Given the description of an element on the screen output the (x, y) to click on. 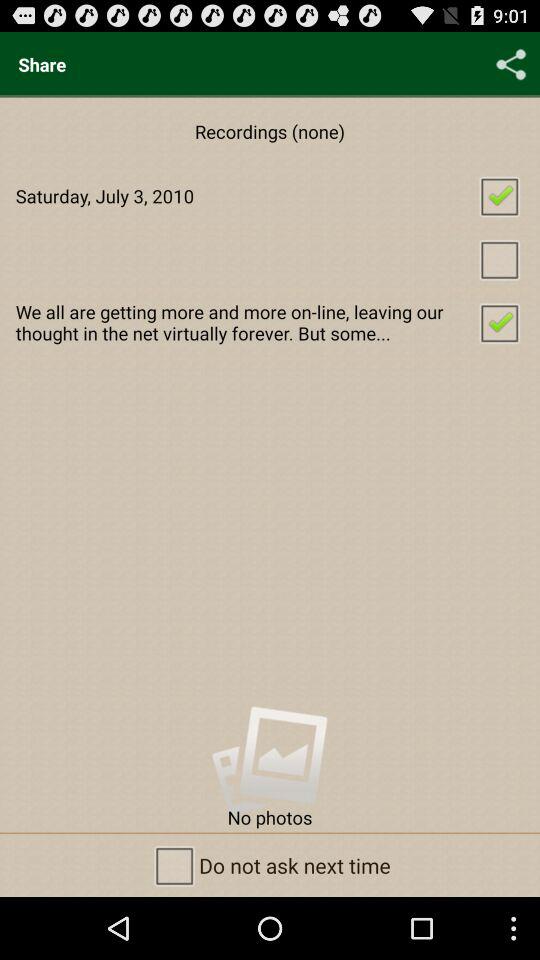
press the we all are checkbox (269, 322)
